Given the description of an element on the screen output the (x, y) to click on. 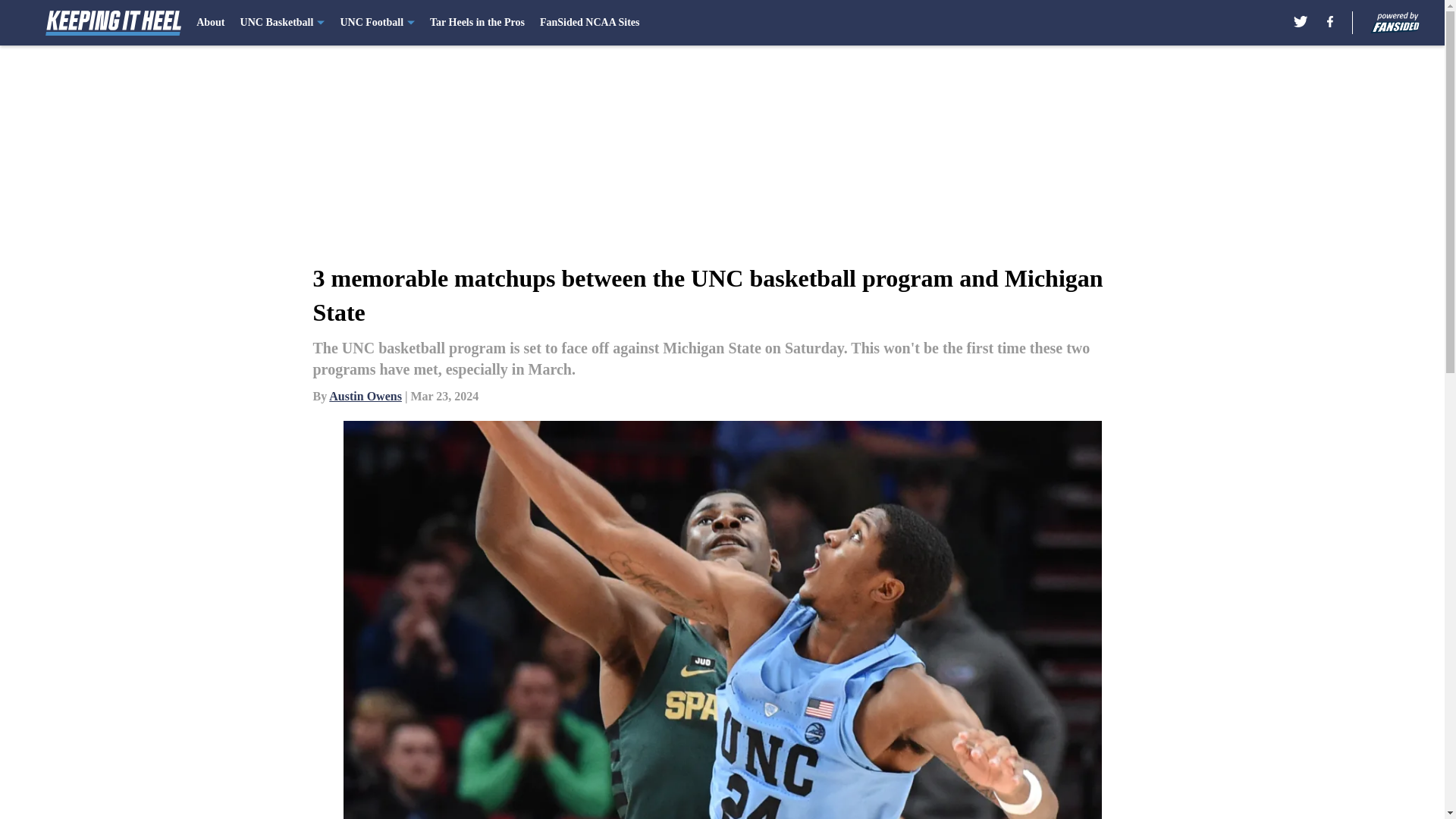
Tar Heels in the Pros (476, 22)
FanSided NCAA Sites (589, 22)
Austin Owens (365, 395)
About (210, 22)
